Given the description of an element on the screen output the (x, y) to click on. 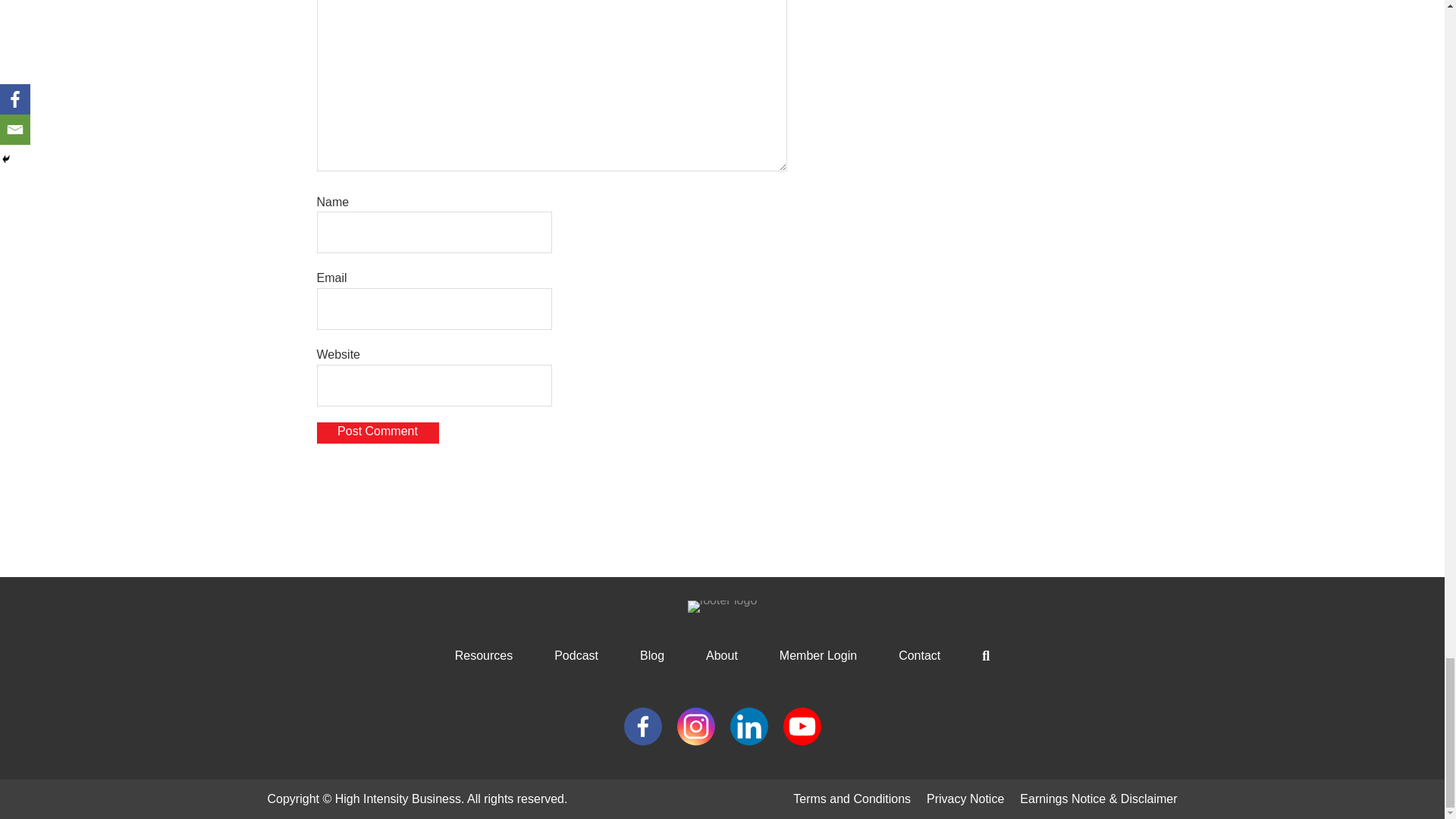
Post Comment (378, 432)
Facebook (642, 725)
Youtubechannel (802, 725)
Instagram (695, 725)
Linkedin (748, 725)
footer logo (722, 606)
